Given the description of an element on the screen output the (x, y) to click on. 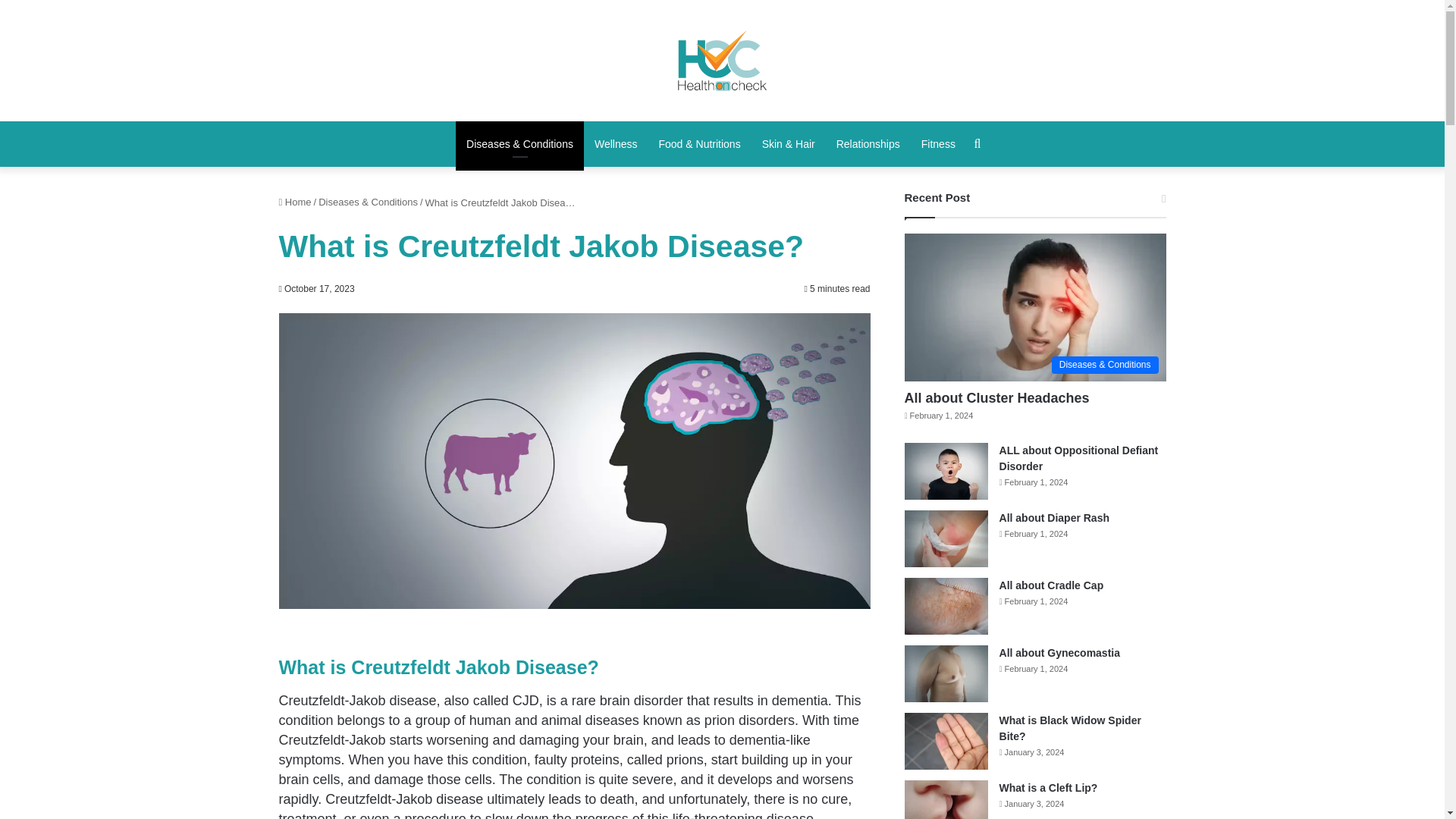
Home (295, 202)
ALL about Oppositional Defiant Disorder (1078, 458)
HOC (721, 60)
All about Gynecomastia (1058, 653)
What is Black Widow Spider Bite? (1069, 728)
All about Cluster Headaches (996, 397)
Fitness (938, 144)
What is a Cleft Lip? (1047, 787)
Relationships (868, 144)
All about Diaper Rash (1053, 517)
